Given the description of an element on the screen output the (x, y) to click on. 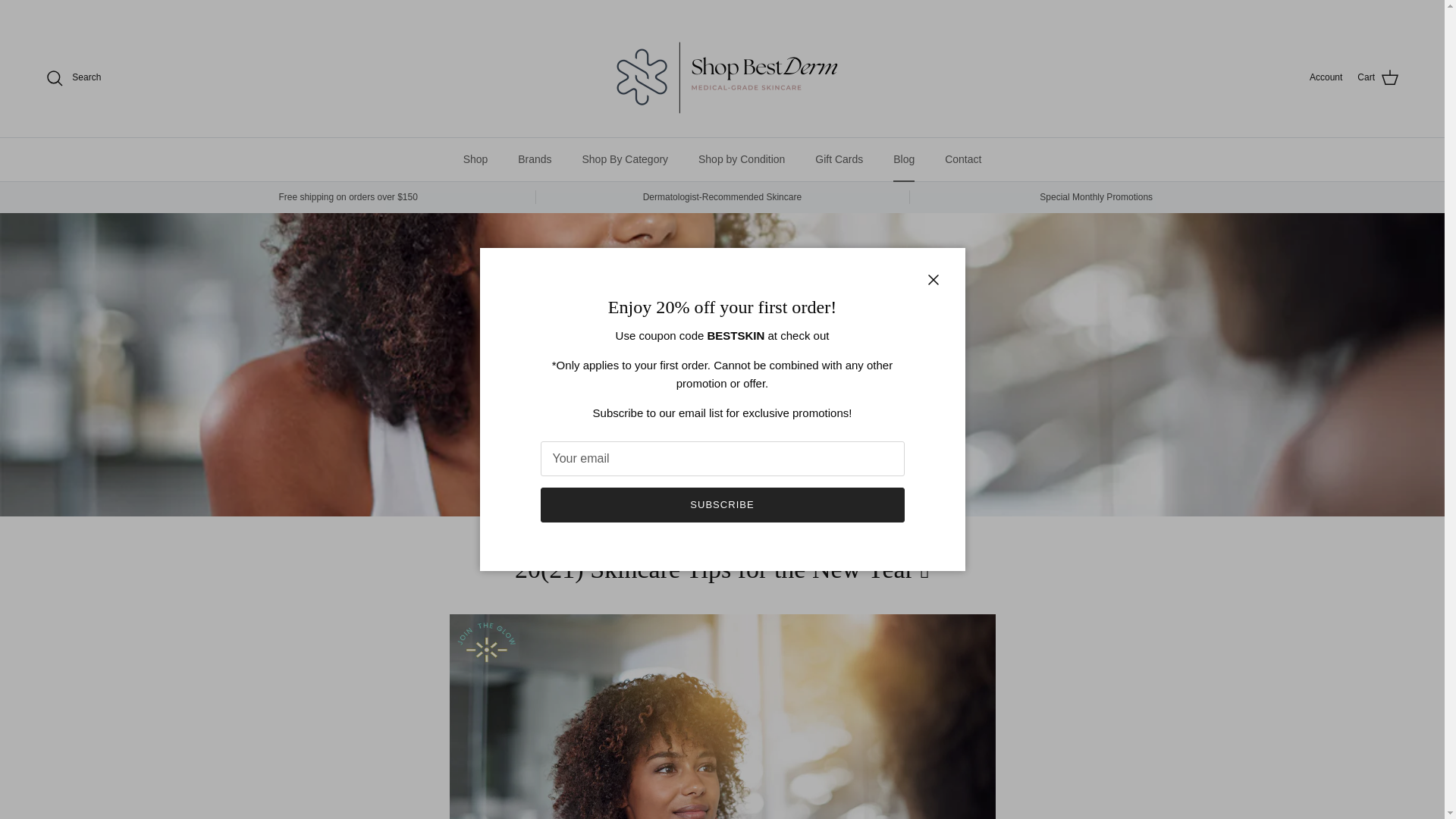
Shop By Category (624, 159)
Brands (533, 159)
Search (72, 76)
Account (1325, 77)
Shop BestDerm (721, 77)
Cart (1377, 77)
Shop by Condition (740, 159)
Shop (475, 159)
